Given the description of an element on the screen output the (x, y) to click on. 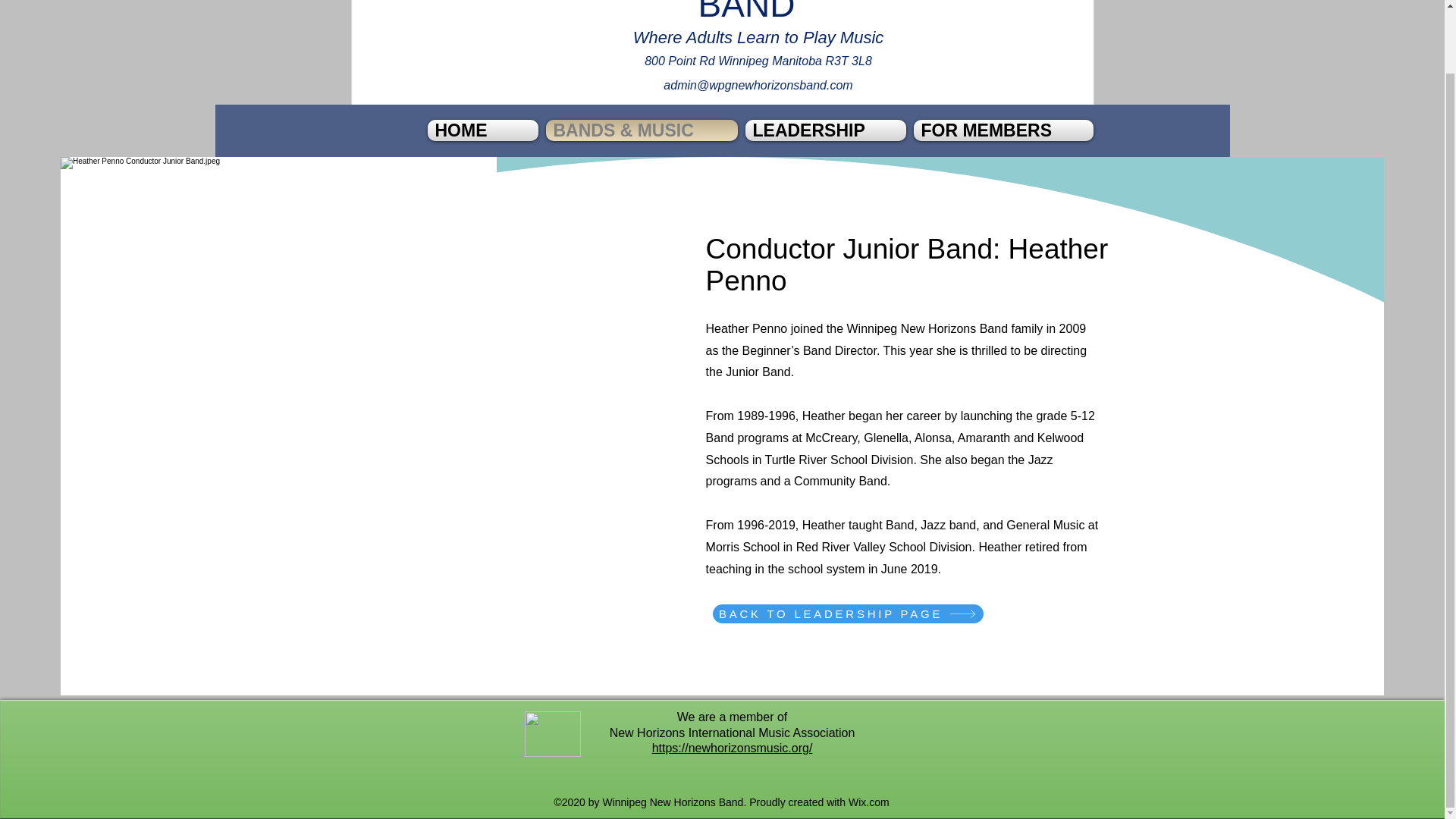
LEADERSHIP (825, 129)
HOME (484, 129)
WINNIPEG NEW HORIZONS BAND (745, 12)
BACK TO LEADERSHIP PAGE (848, 613)
FOR MEMBERS (1001, 129)
